Given the description of an element on the screen output the (x, y) to click on. 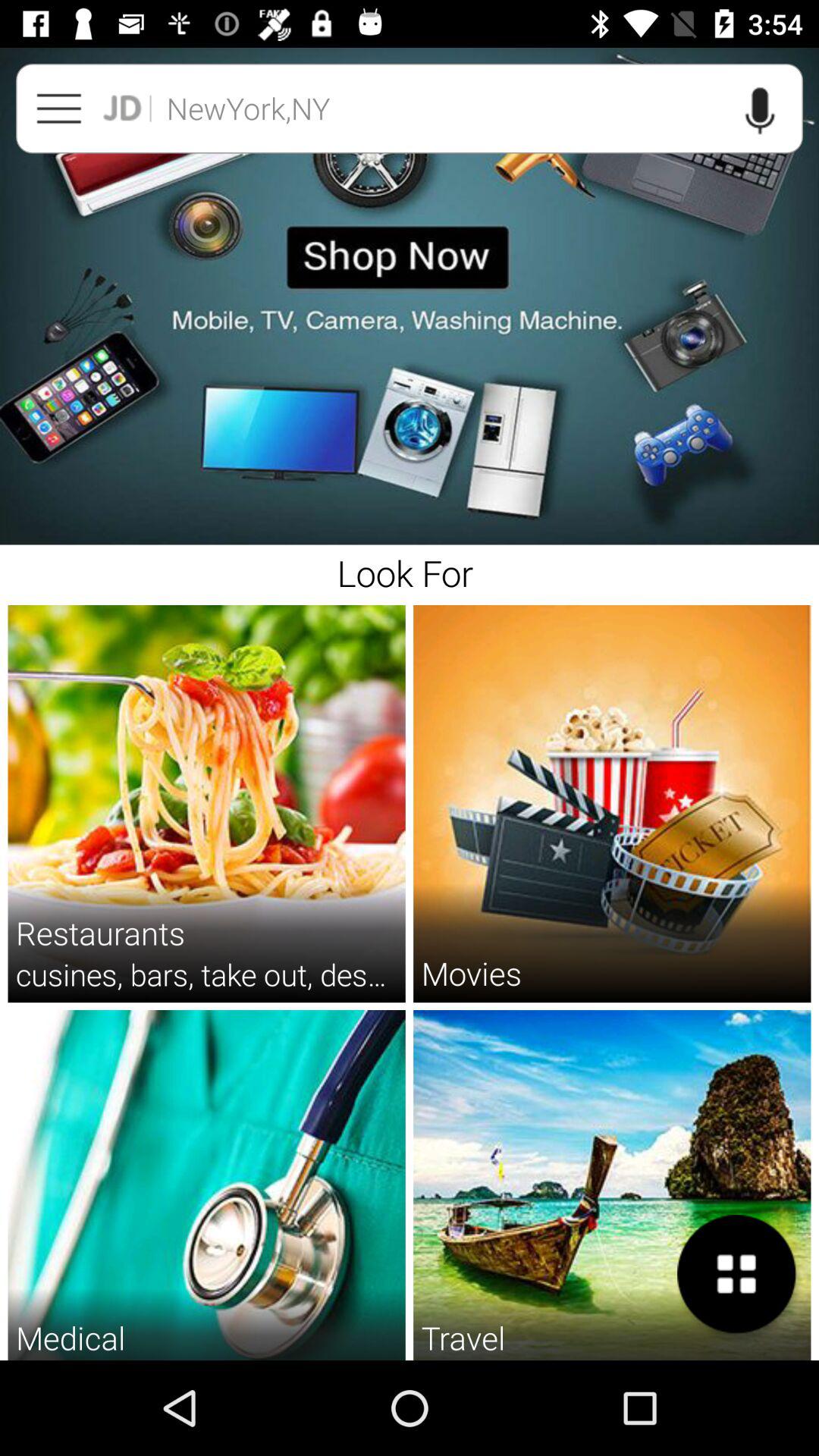
open icon below look for (471, 972)
